Given the description of an element on the screen output the (x, y) to click on. 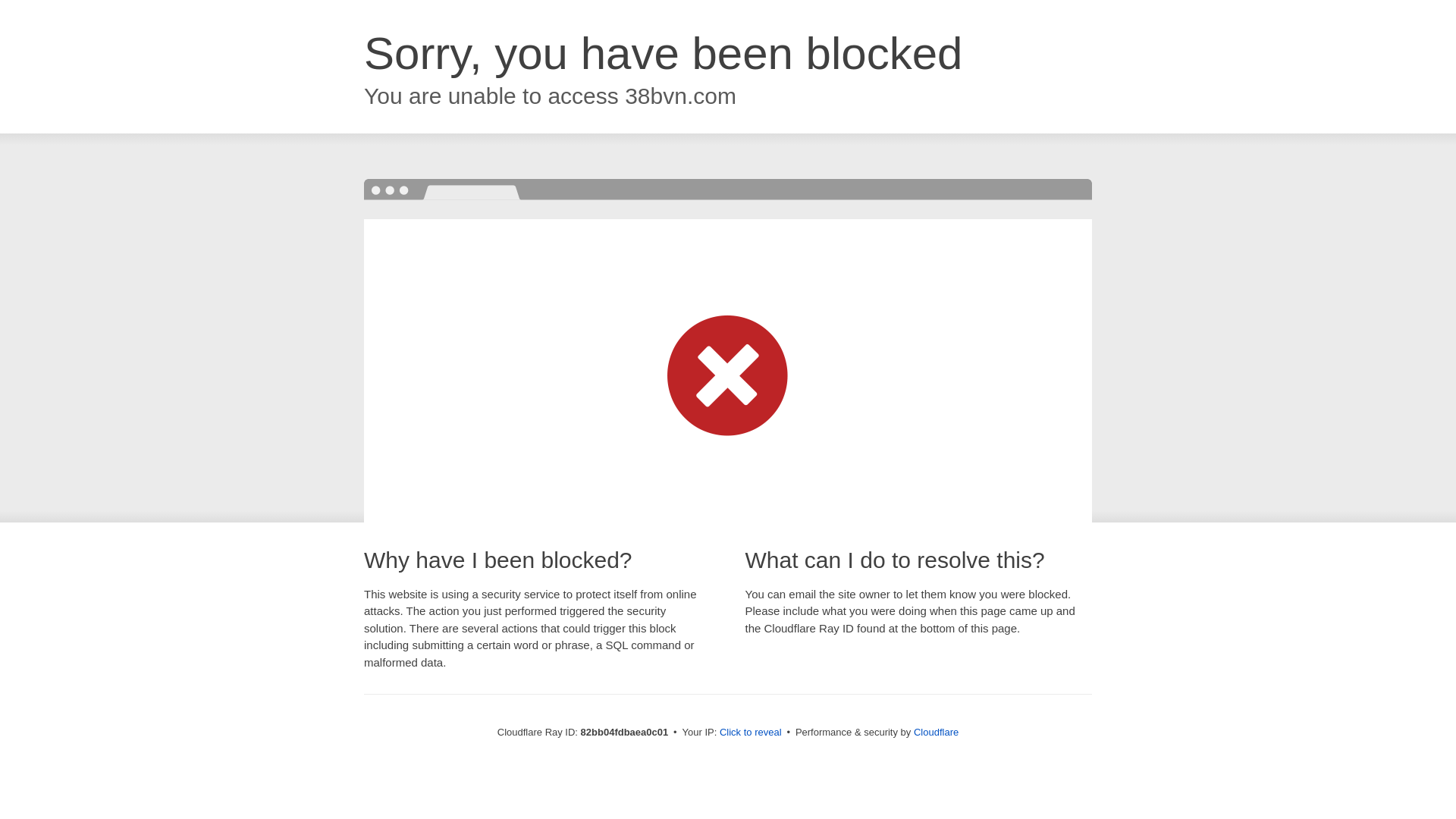
Cloudflare Element type: text (935, 731)
Click to reveal Element type: text (750, 732)
